Given the description of an element on the screen output the (x, y) to click on. 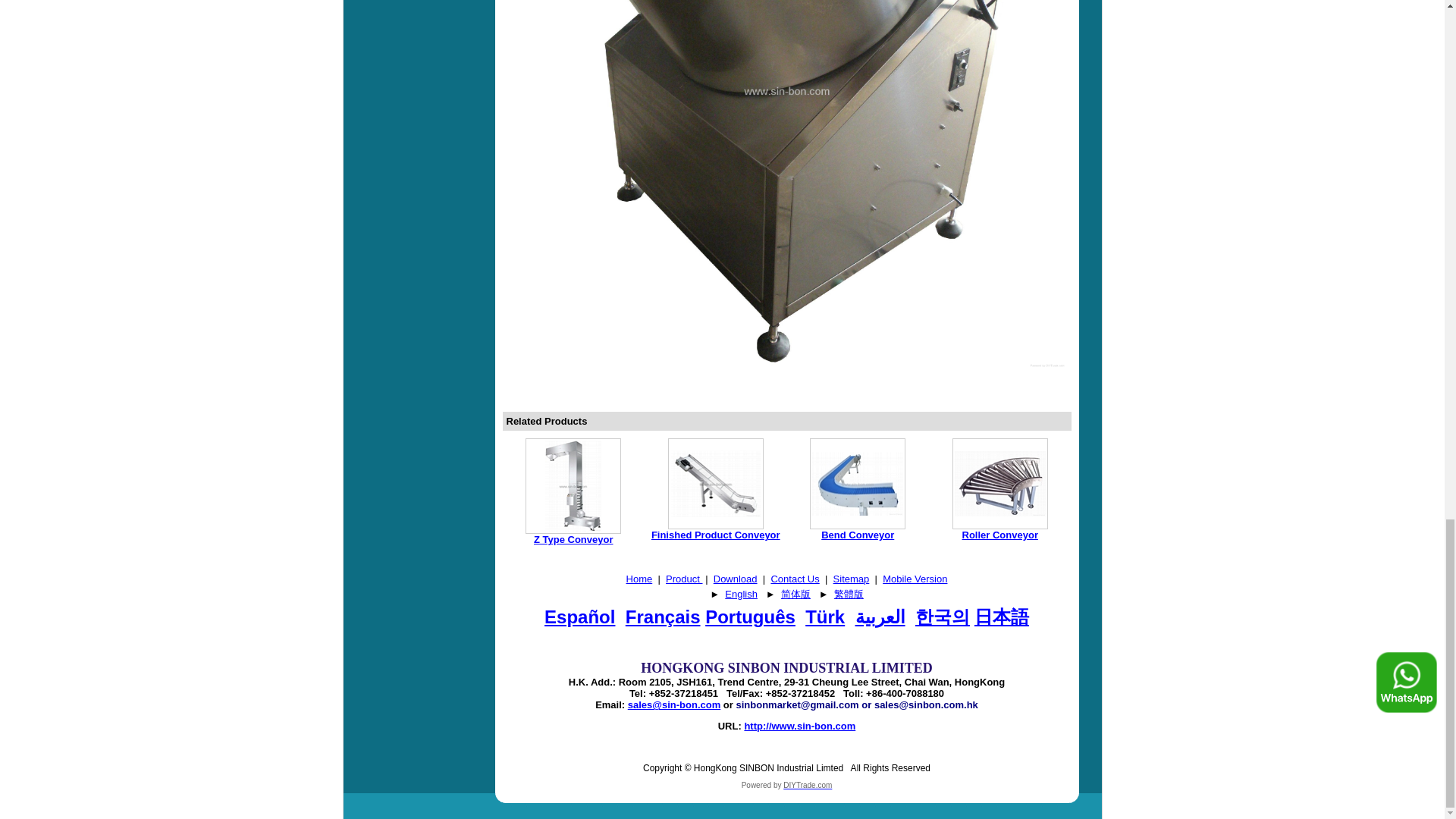
Bend Conveyor (857, 483)
Roller Conveyor (1000, 483)
Mobile Version (914, 578)
Finished Product Conveyor (715, 534)
Z Type Conveyor (573, 539)
Finished Product Conveyor (715, 483)
